Given the description of an element on the screen output the (x, y) to click on. 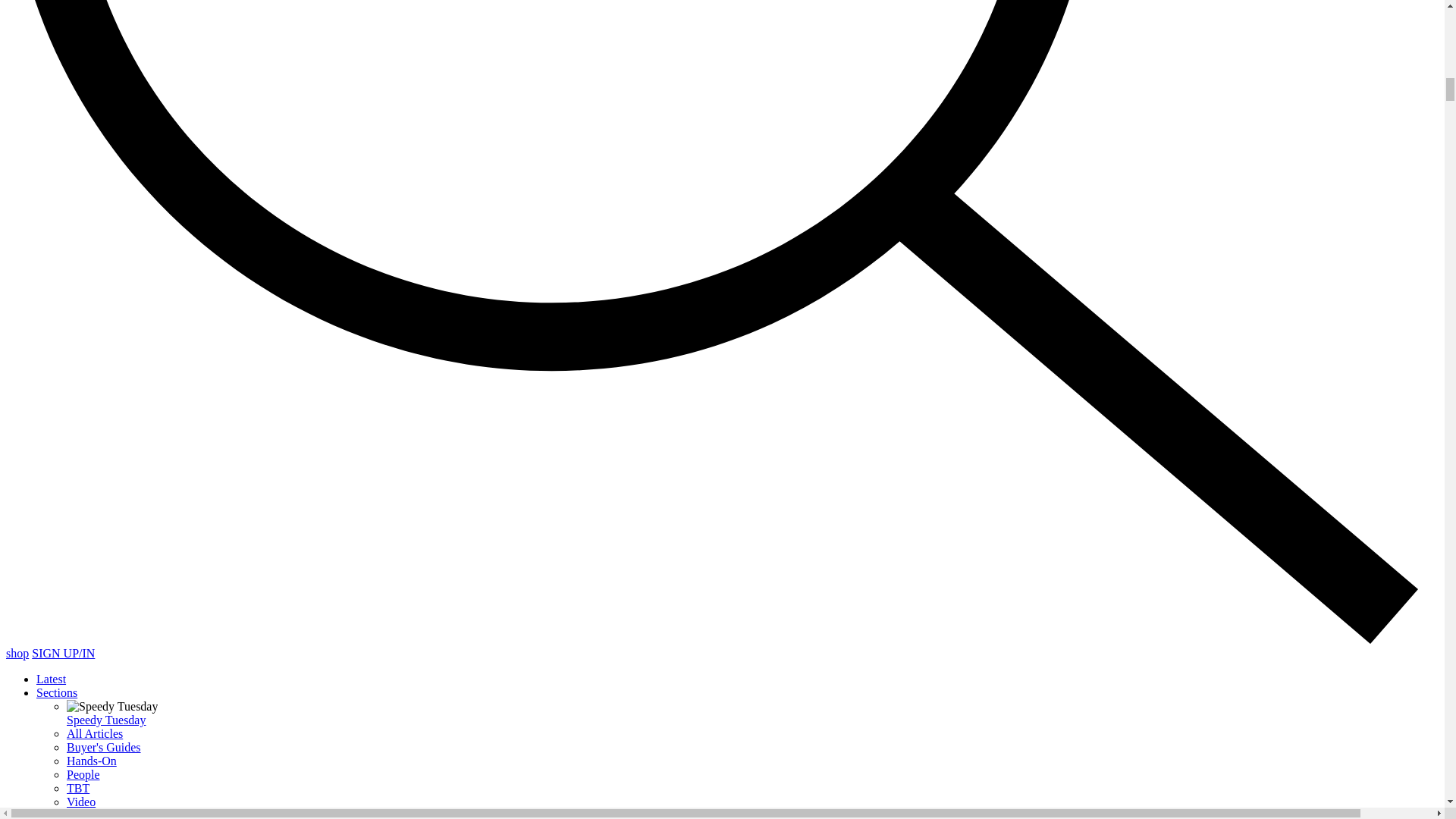
Speedy Tuesday (105, 719)
Watch Review (101, 814)
People (83, 774)
Latest (50, 678)
Sections (56, 692)
Hands-On (91, 760)
Buyer's Guides (103, 747)
Video (81, 801)
TBT (77, 788)
shop (17, 653)
